Given the description of an element on the screen output the (x, y) to click on. 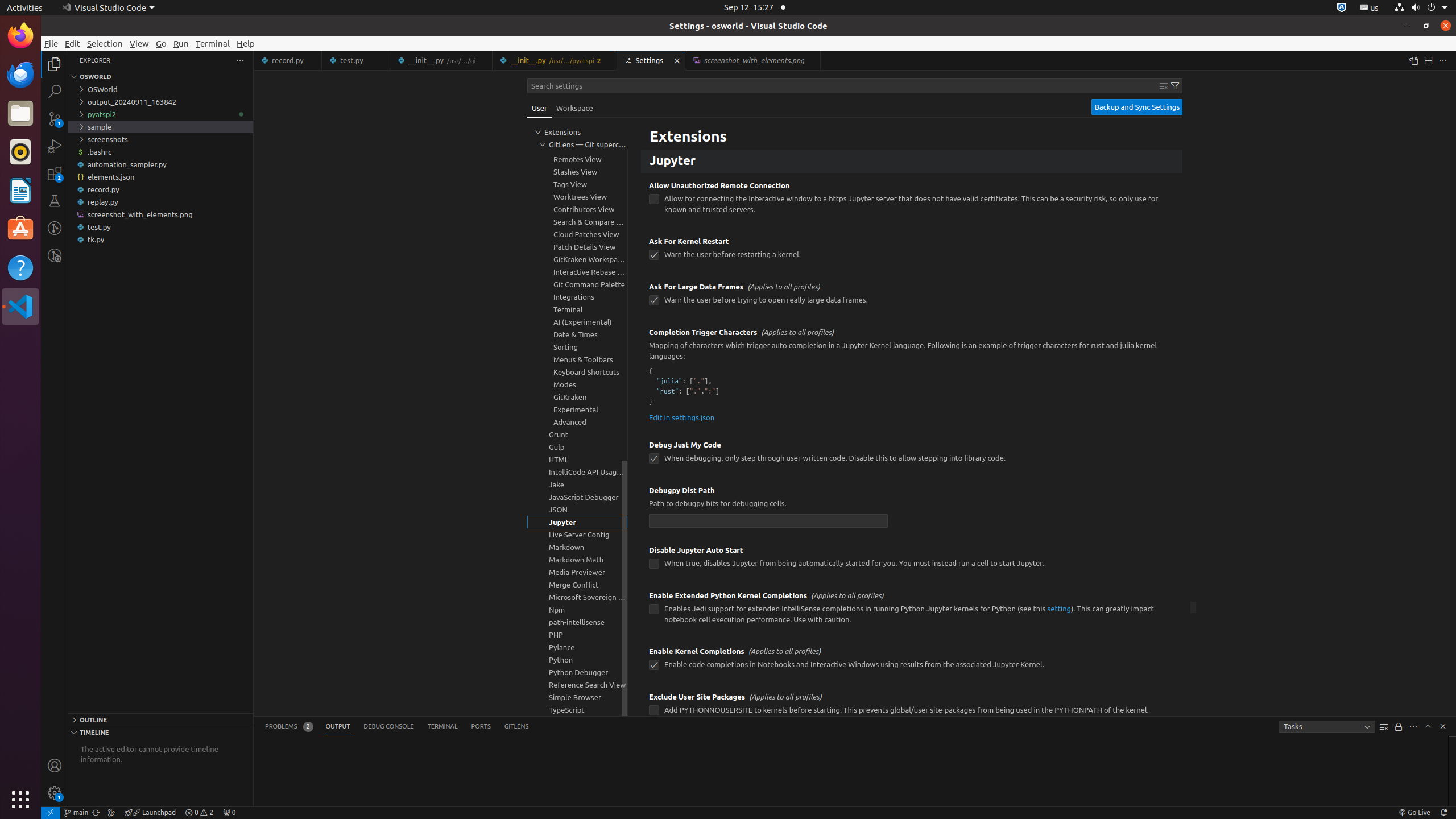
elements.json Element type: tree-item (160, 176)
Jupyter, group Element type: tree-item (577, 521)
Merge Conflict, group Element type: tree-item (577, 584)
View Element type: push-button (139, 43)
